Given the description of an element on the screen output the (x, y) to click on. 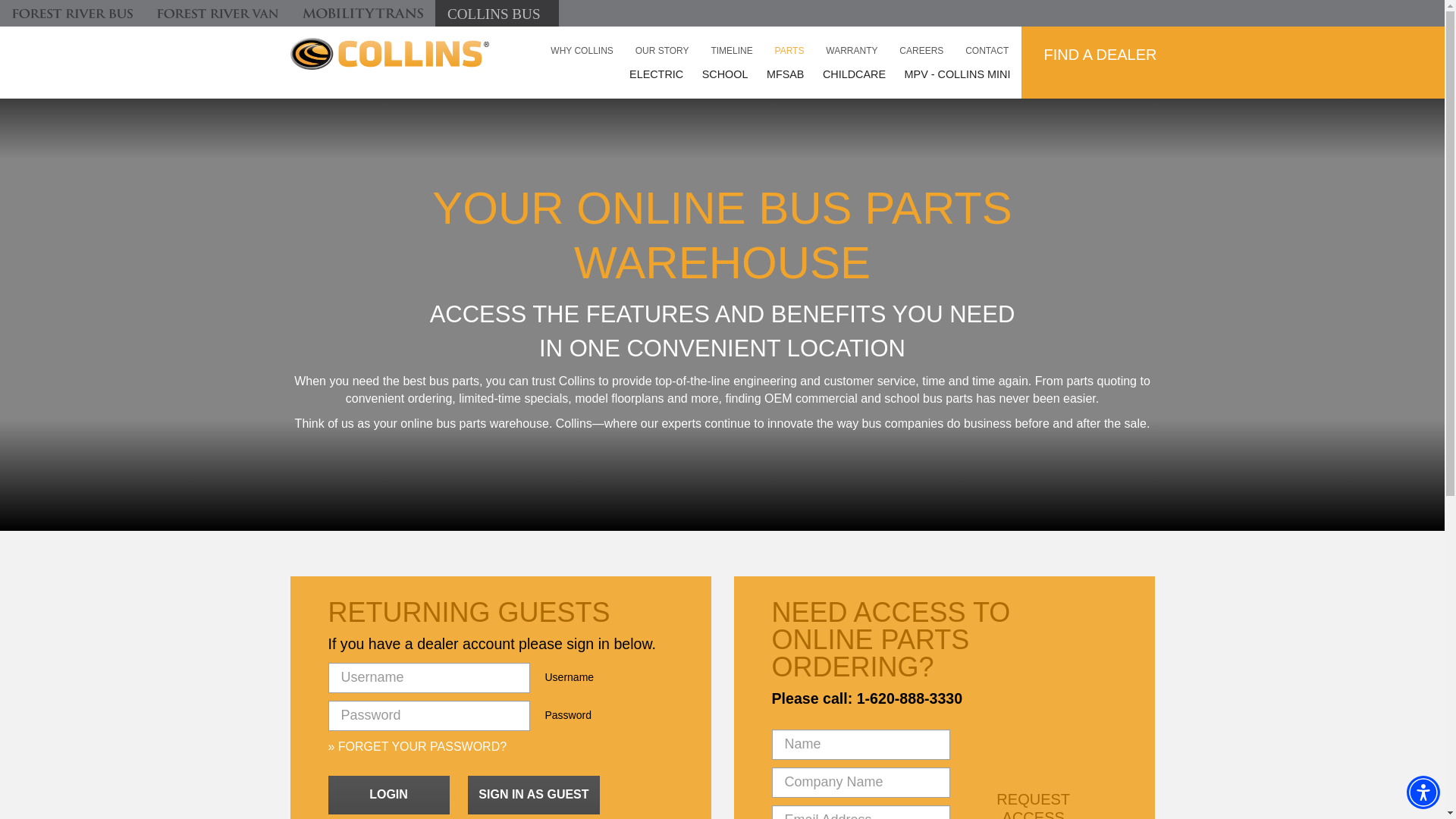
SCHOOL (725, 74)
CAREERS (921, 50)
WHY COLLINS (581, 50)
Login (387, 794)
WARRANTY (852, 50)
TIMELINE (731, 50)
Accessibility Menu (1422, 792)
MFSAB (785, 74)
FIND A DEALER (1100, 54)
CONTACT (986, 50)
Login (387, 794)
MPV - COLLINS MINI (957, 74)
OUR STORY (661, 50)
ELECTRIC (656, 74)
CHILDCARE (853, 74)
